Given the description of an element on the screen output the (x, y) to click on. 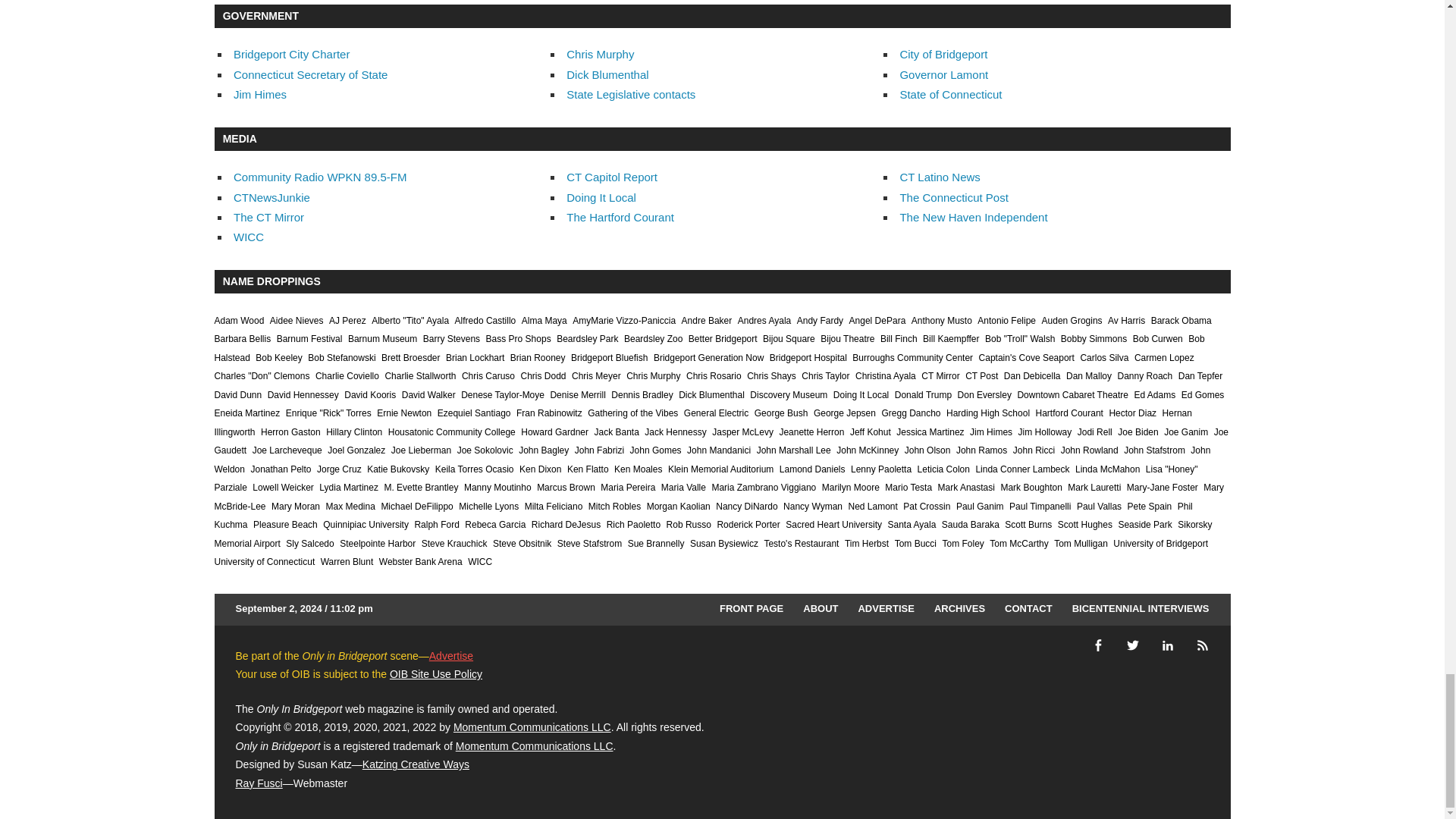
State of Connecticut (950, 93)
Secretary of the State (309, 74)
The official Bridgeport website (943, 53)
Contact your State Legislators (630, 93)
The Hartford Courant (620, 216)
The New Haven Independent (972, 216)
The Connecticut Post Online (953, 196)
Because you need it. Bad. (271, 196)
CT Capitol Report (612, 176)
